Given the description of an element on the screen output the (x, y) to click on. 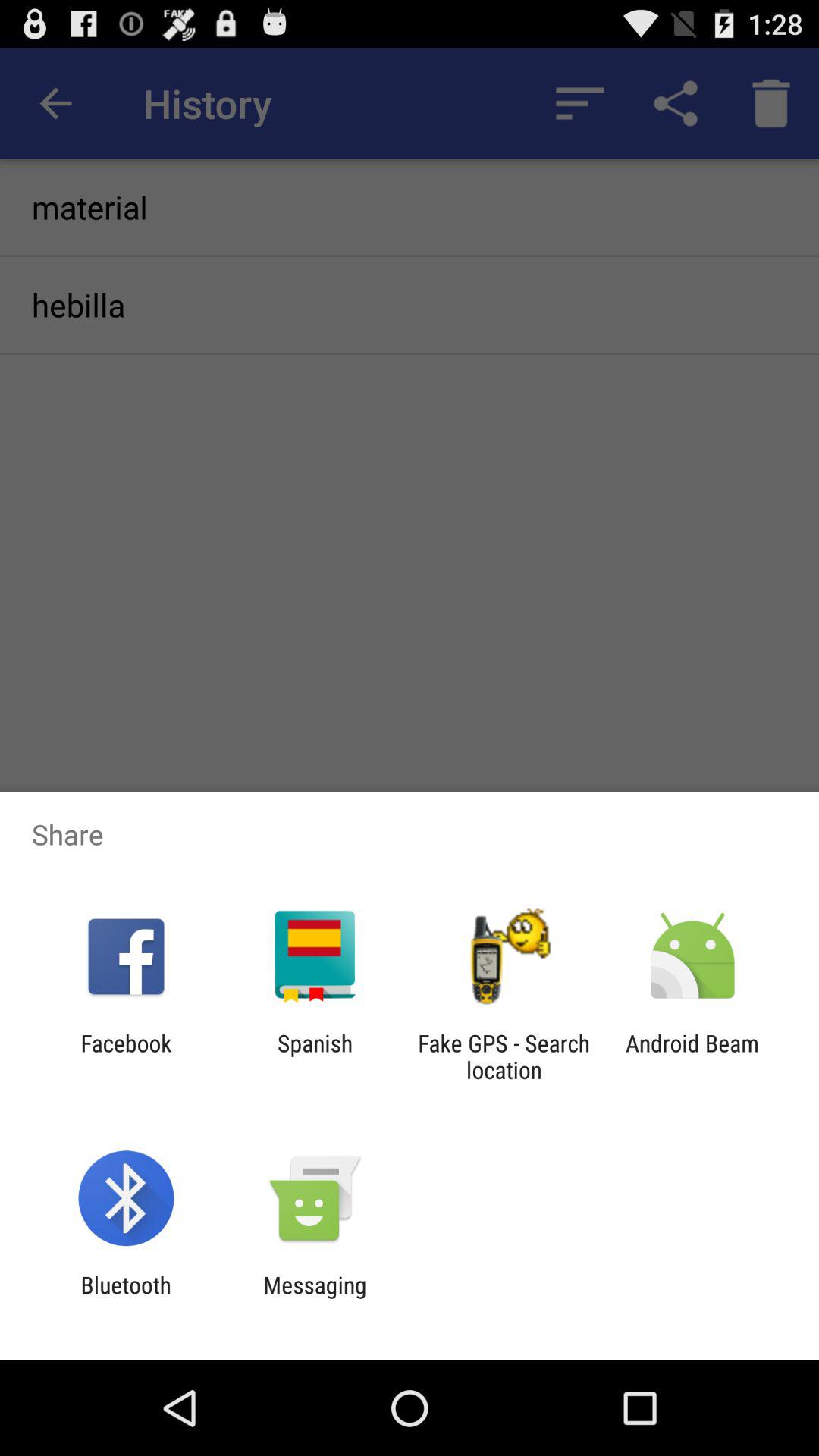
press the messaging icon (314, 1298)
